Given the description of an element on the screen output the (x, y) to click on. 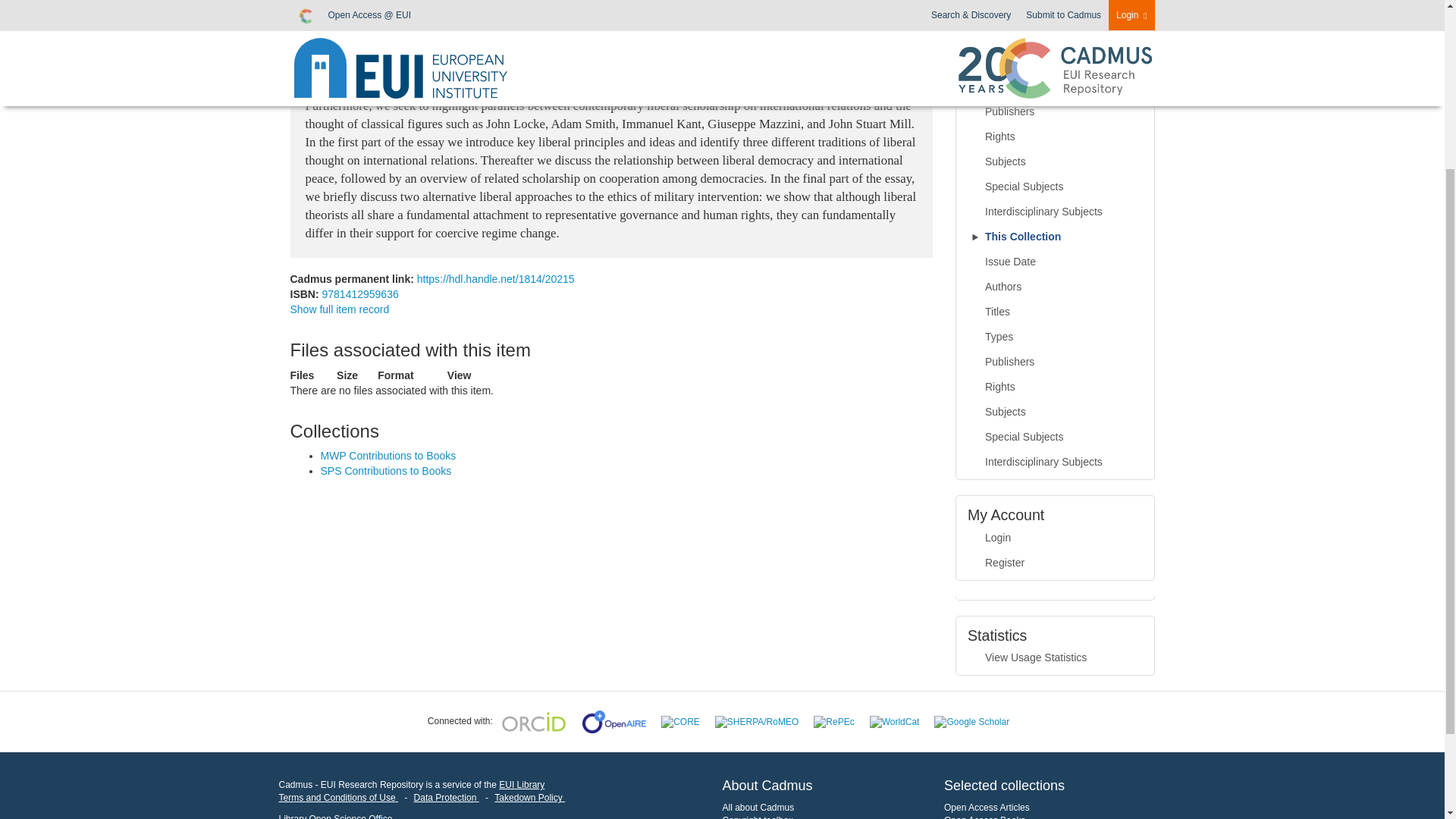
Subjects (1055, 162)
Titles (1055, 62)
Go to Disclaimer (338, 797)
Show full item record (338, 309)
Types (1055, 86)
Publishers (1055, 112)
This Collection (1055, 237)
Interdisciplinary Subjects (1055, 212)
Issue Date (1055, 262)
Disclaimer and Takedowm Policy (529, 797)
SPS Contributions to Books (385, 470)
9781412959636 (359, 294)
Issue Date (1055, 12)
Authors (1055, 36)
Special Subjects (1055, 186)
